Given the description of an element on the screen output the (x, y) to click on. 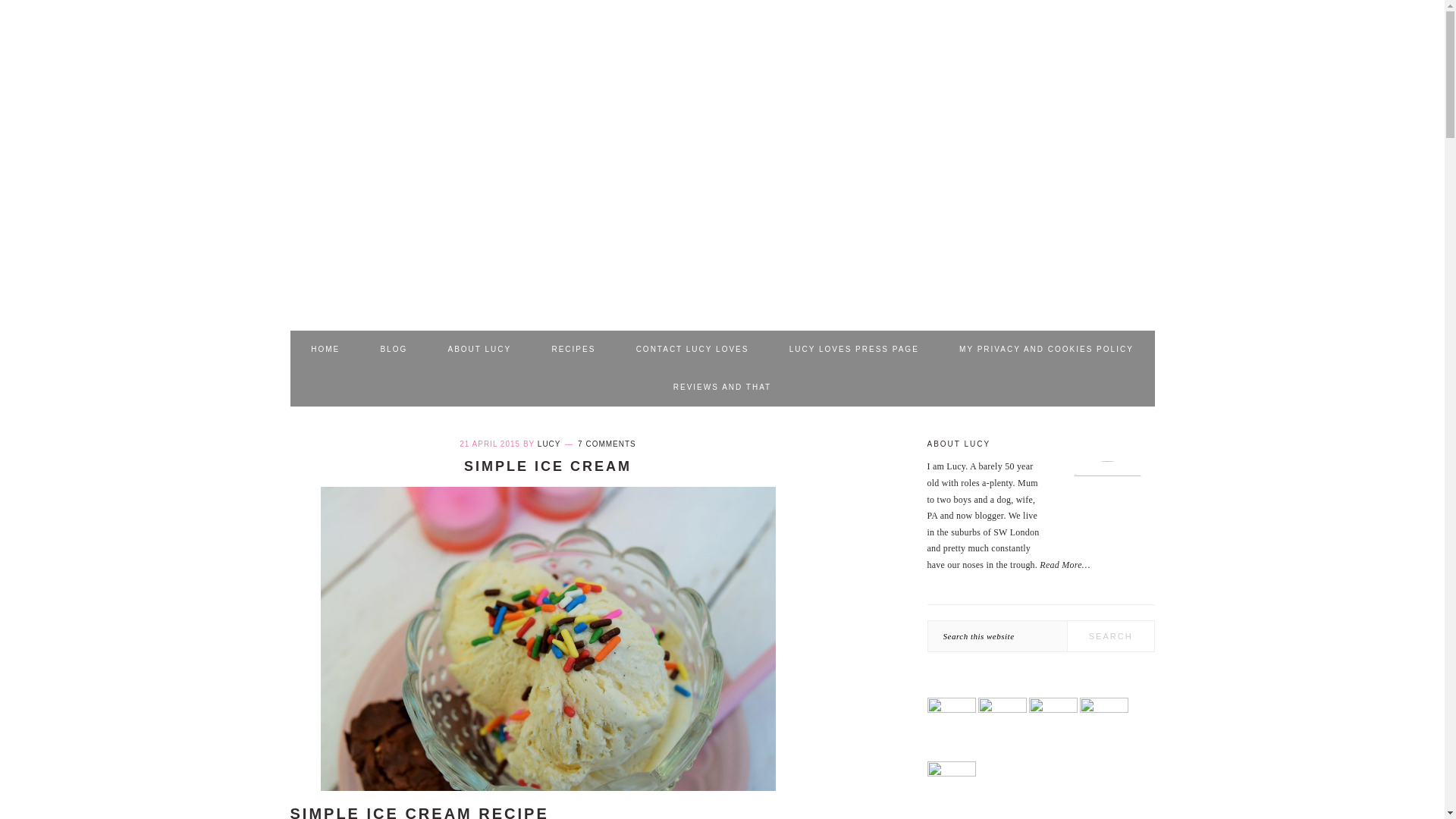
RECIPES (573, 349)
REVIEWS AND THAT (721, 387)
Youtube (950, 773)
7 COMMENTS (607, 443)
LUCY LOVES PRESS PAGE (853, 349)
CONTACT LUCY LOVES (692, 349)
HOME (325, 349)
BLOG (393, 349)
ABOUT LUCY (478, 349)
Instagram (1104, 709)
